Given the description of an element on the screen output the (x, y) to click on. 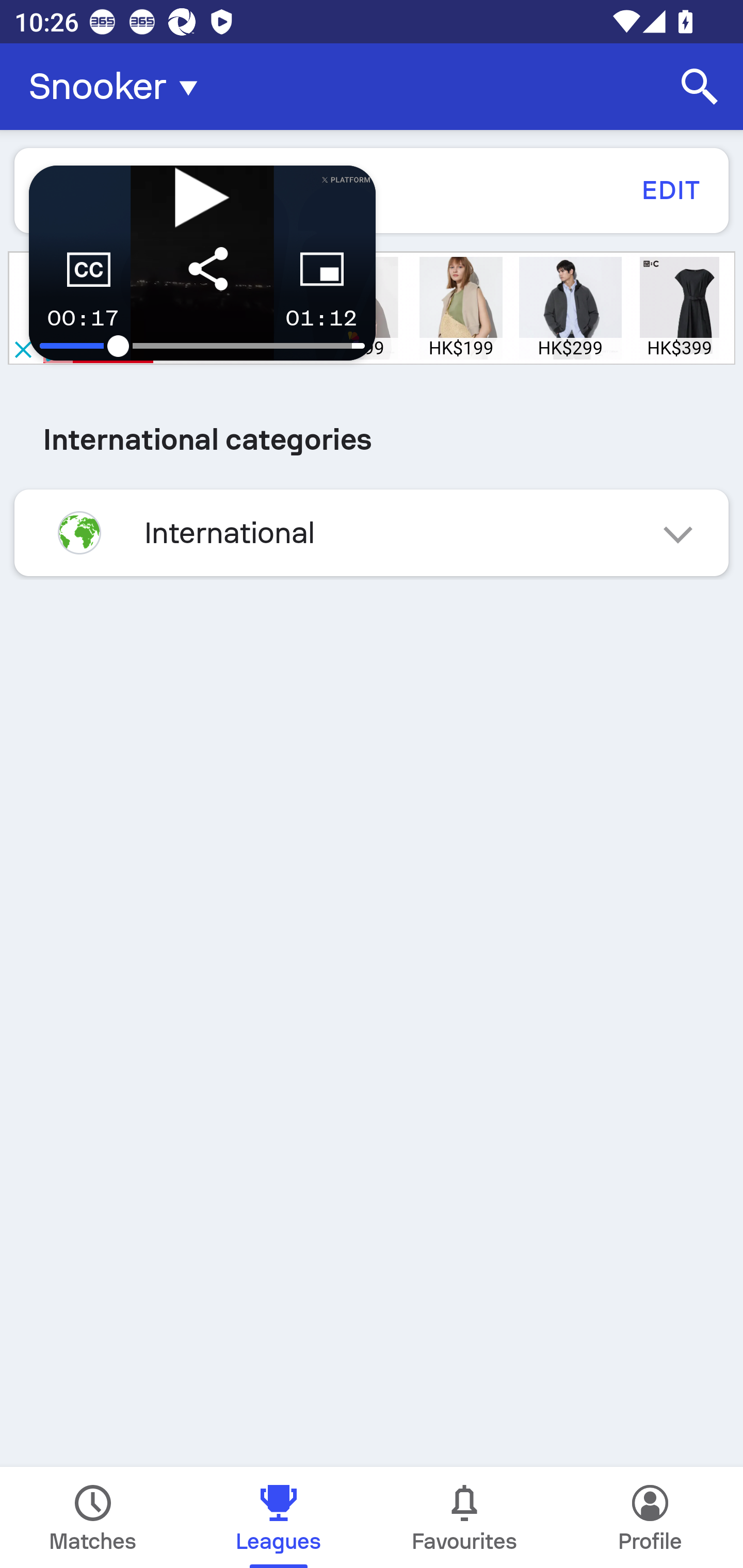
Snooker (118, 86)
Search (699, 86)
EDIT (670, 190)
 HK$199 
    HK$199 (460, 308)
 HK$299 
    HK$299 (571, 308)
 HK$399 
    HK$399 (679, 308)
close_button (21, 349)
International categories (371, 439)
International (371, 532)
Matches (92, 1517)
Favourites (464, 1517)
Profile (650, 1517)
